Given the description of an element on the screen output the (x, y) to click on. 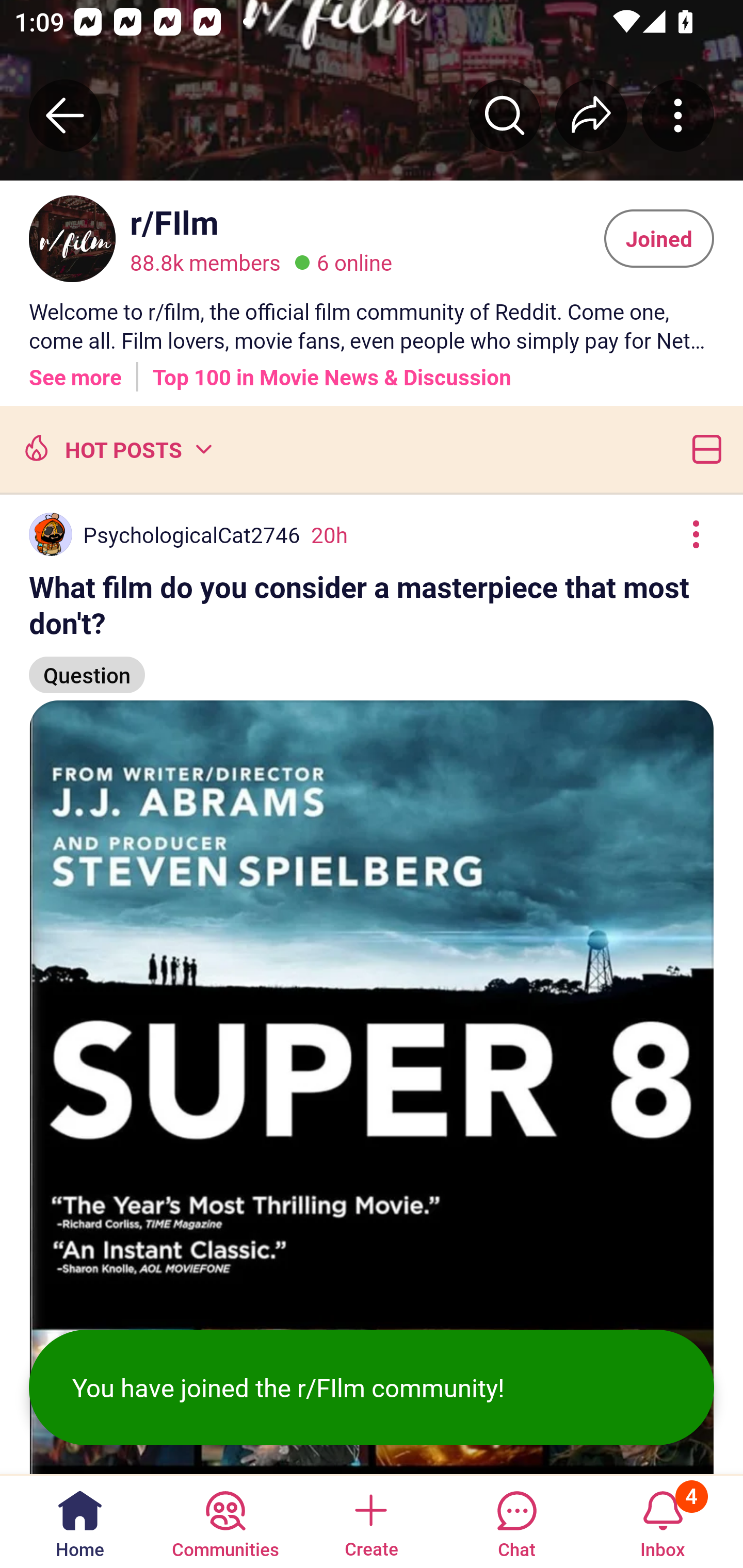
Back (64, 115)
Search r/﻿FIlm (504, 115)
Share r/﻿FIlm (591, 115)
More community actions (677, 115)
Hot posts HOT POSTS (116, 449)
Card (703, 449)
Question (86, 665)
Home (80, 1520)
Communities (225, 1520)
Create a post Create (370, 1520)
Chat (516, 1520)
Inbox, has 4 notifications 4 Inbox (662, 1520)
